Given the description of an element on the screen output the (x, y) to click on. 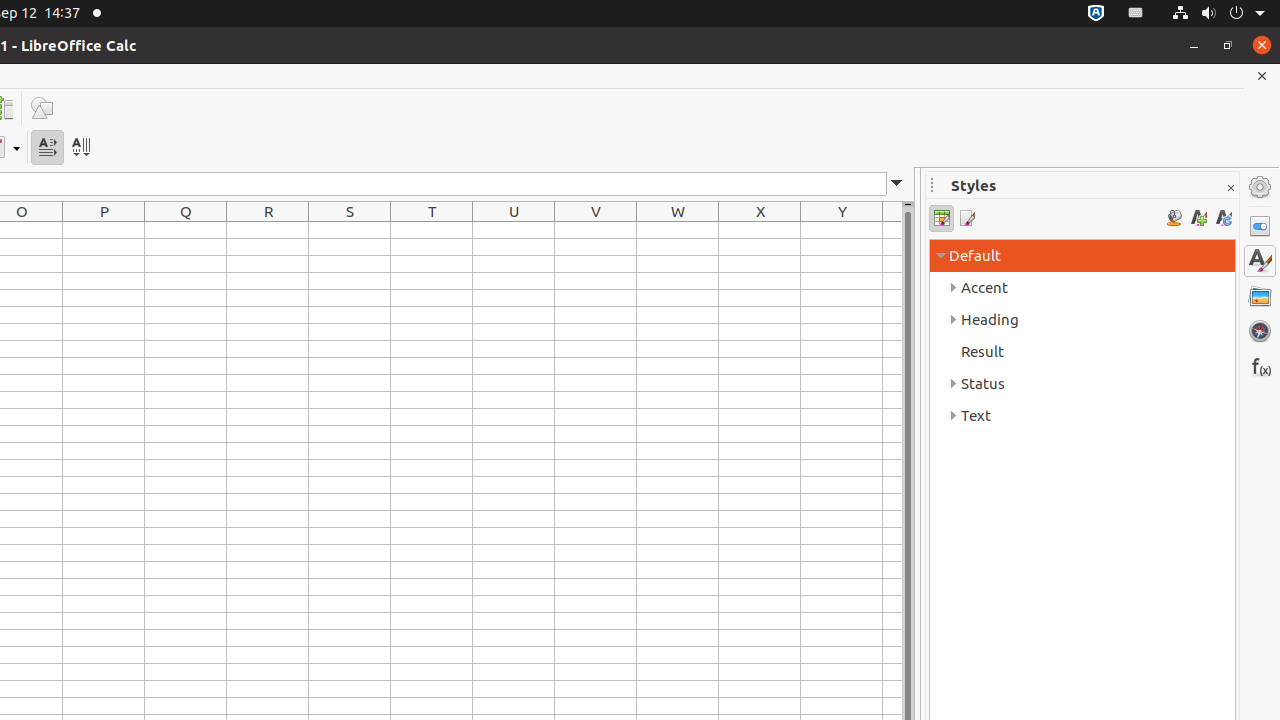
System Element type: menu (1218, 13)
Y1 Element type: table-cell (842, 230)
:1.72/StatusNotifierItem Element type: menu (1096, 13)
Close Sidebar Deck Element type: push-button (1230, 188)
Cell Styles Element type: push-button (941, 218)
